Given the description of an element on the screen output the (x, y) to click on. 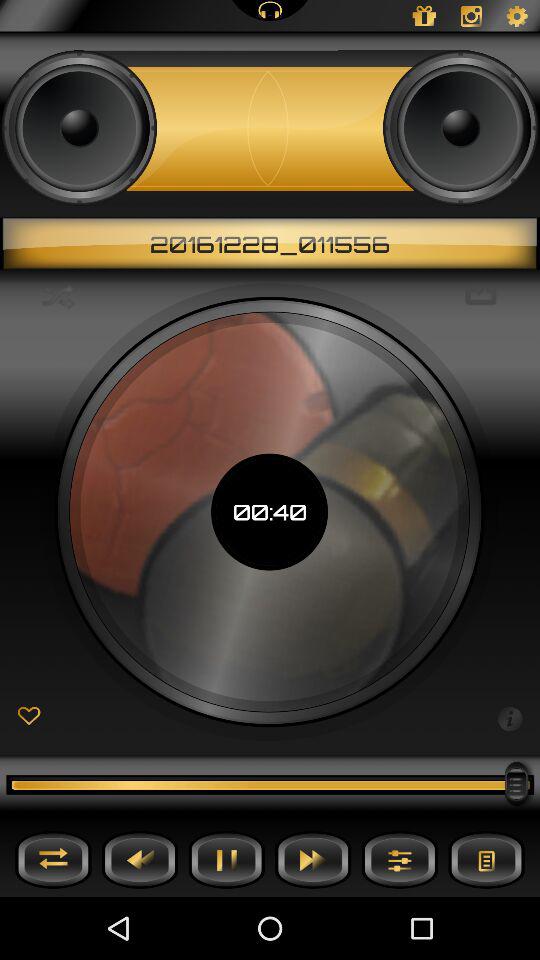
favorite this (28, 716)
